Given the description of an element on the screen output the (x, y) to click on. 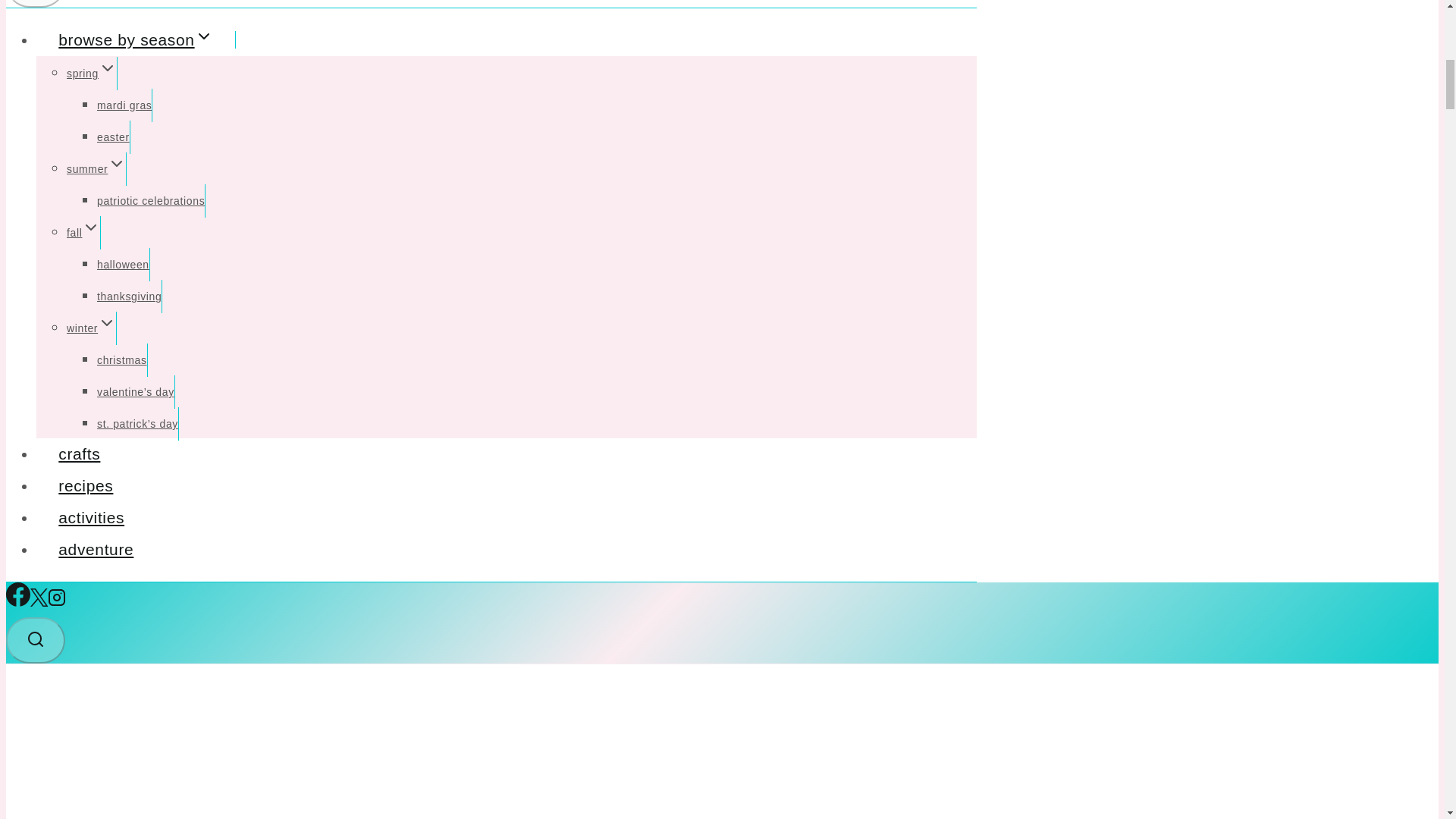
X (39, 597)
SEARCH (35, 638)
thanksgiving (129, 296)
expand (107, 67)
expand (116, 163)
fallexpand (83, 232)
recipes (85, 485)
Instagram (56, 600)
easter (114, 136)
summerexpand (96, 168)
adventure (95, 548)
winterexpand (91, 328)
halloween (123, 264)
Facebook (17, 600)
Instagram (56, 597)
